Given the description of an element on the screen output the (x, y) to click on. 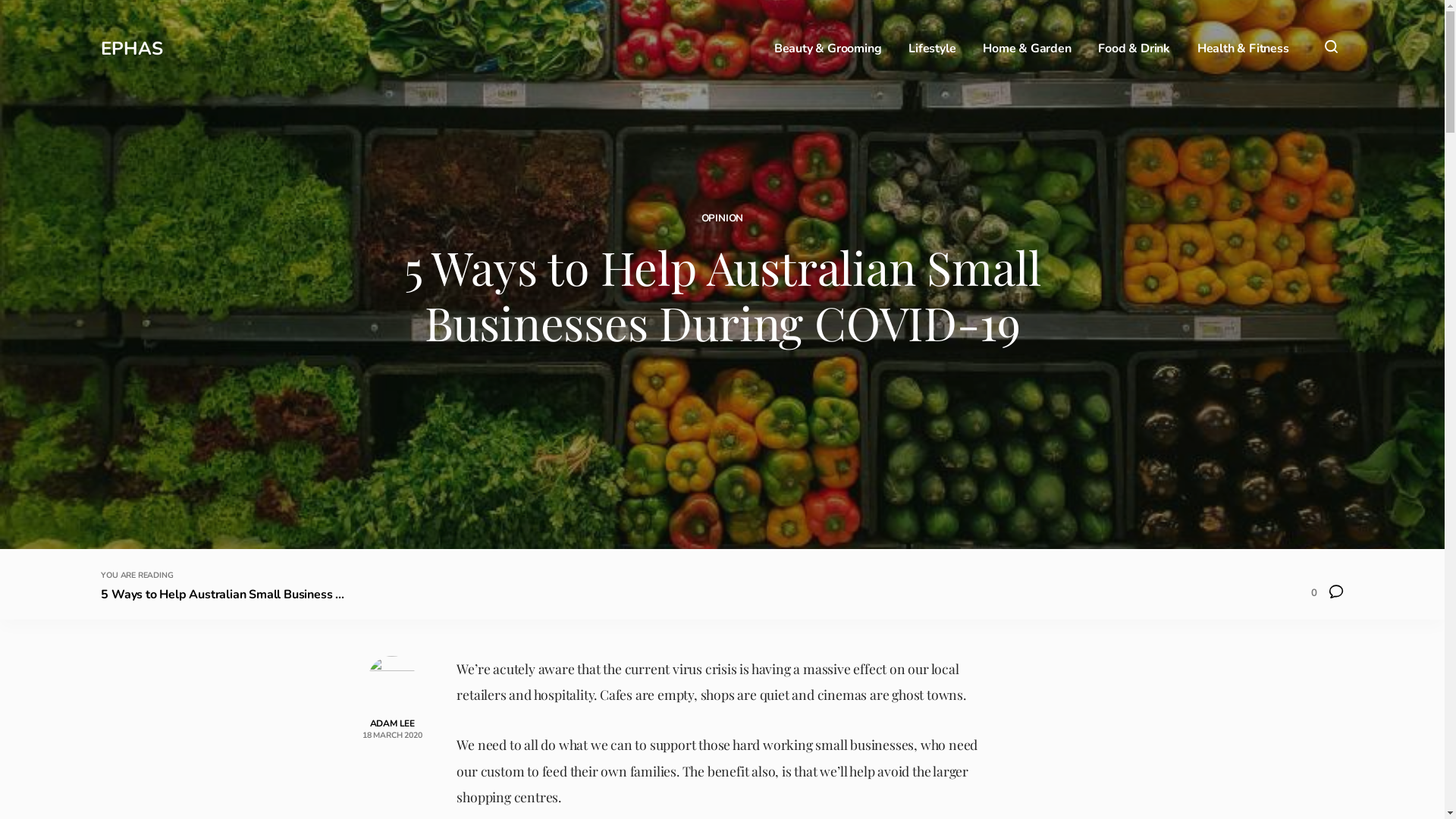
OPINION Element type: text (722, 218)
EPHAS Element type: text (131, 48)
Food & Drink Element type: text (1134, 48)
Home & Garden Element type: text (1026, 48)
Health & Fitness Element type: text (1243, 48)
0 Element type: text (1327, 594)
Lifestyle Element type: text (931, 48)
Beauty & Grooming Element type: text (827, 48)
